Given the description of an element on the screen output the (x, y) to click on. 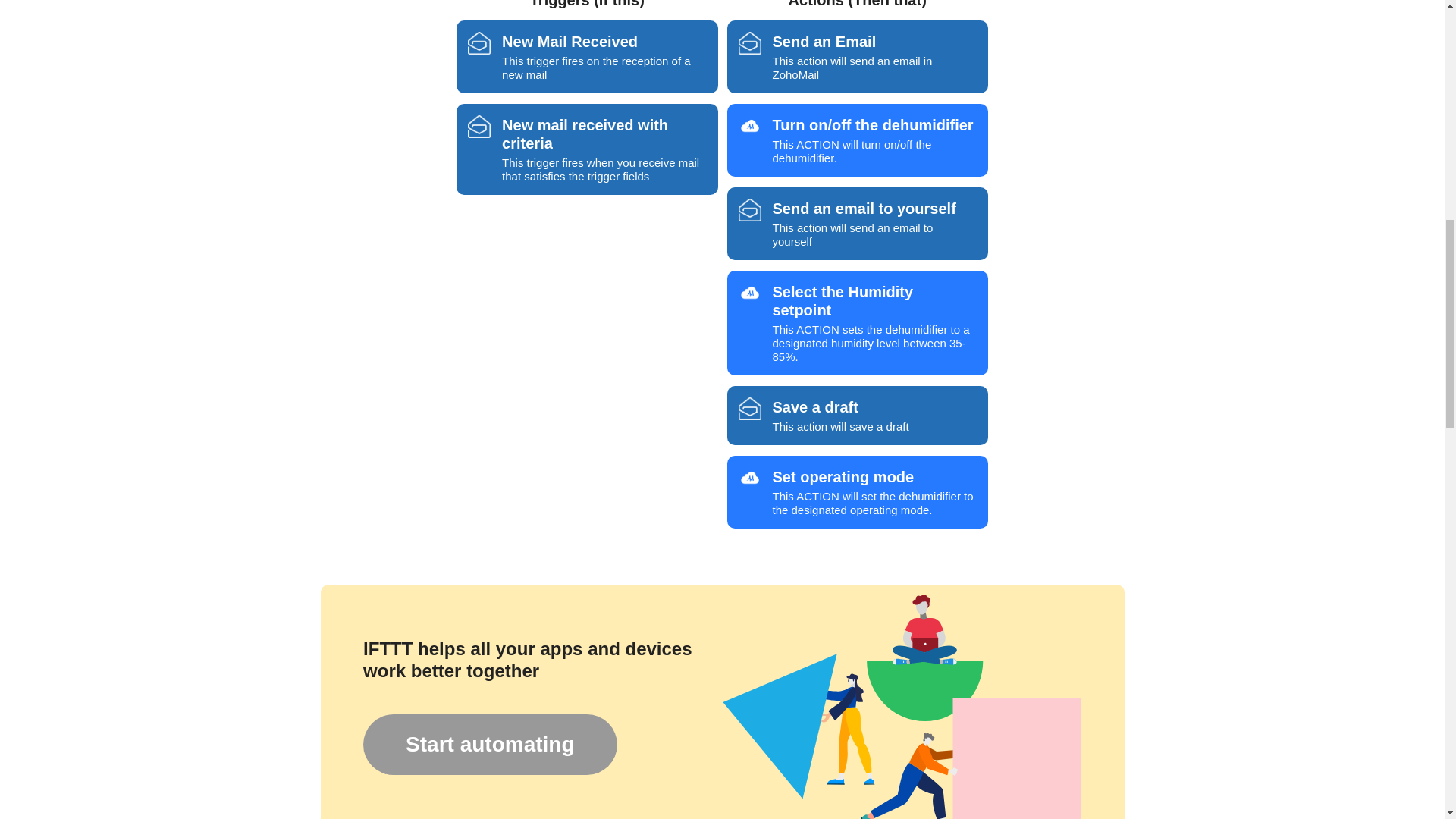
Send an Email (856, 415)
Start automating (749, 42)
New mail received with criteria (488, 744)
New Mail Received (856, 56)
